Given the description of an element on the screen output the (x, y) to click on. 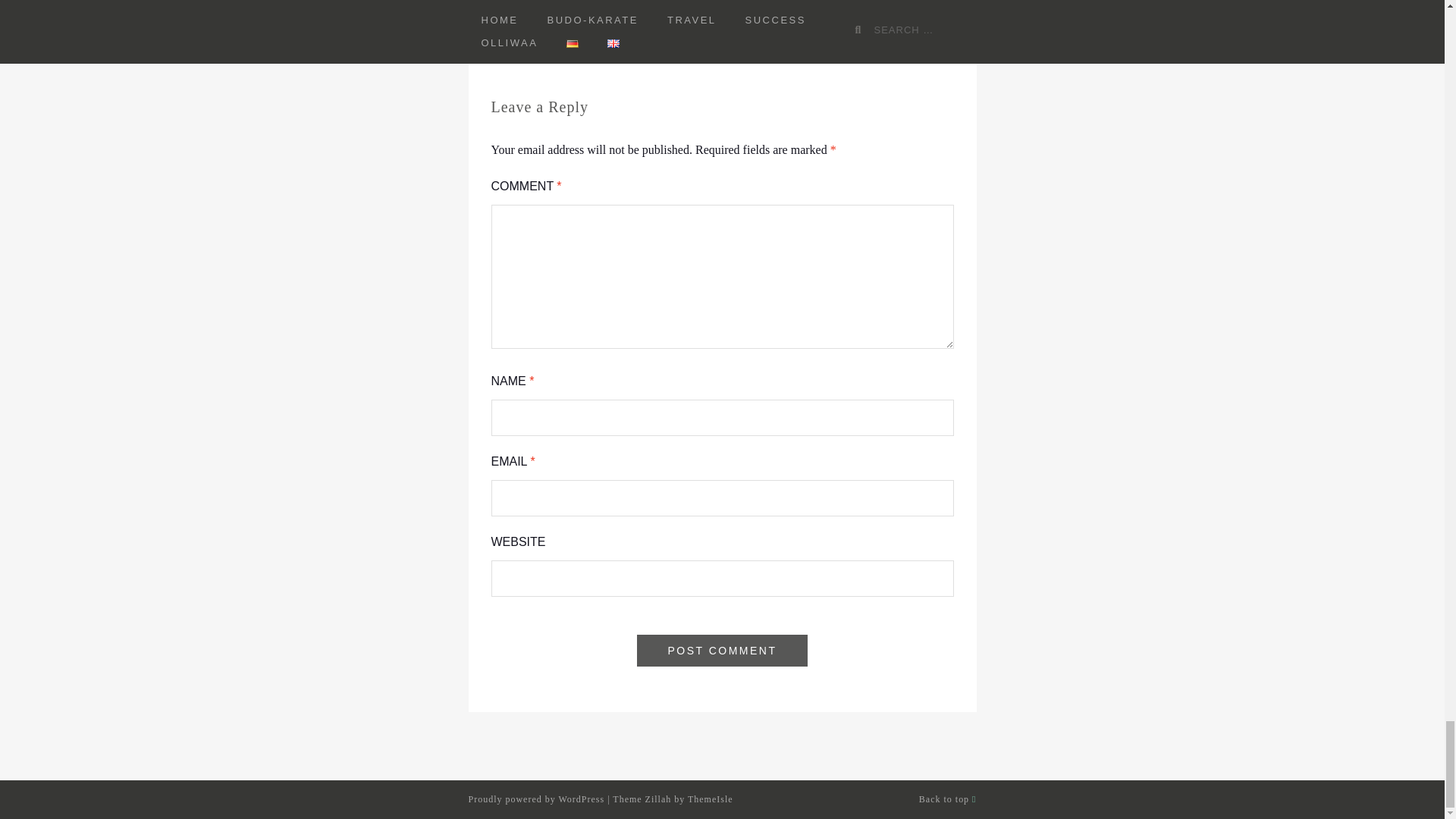
ThemeIsle (710, 798)
Post Comment (721, 650)
Back to top (947, 798)
WordPress (580, 798)
REPLY (628, 9)
Post Comment (721, 650)
